Given the description of an element on the screen output the (x, y) to click on. 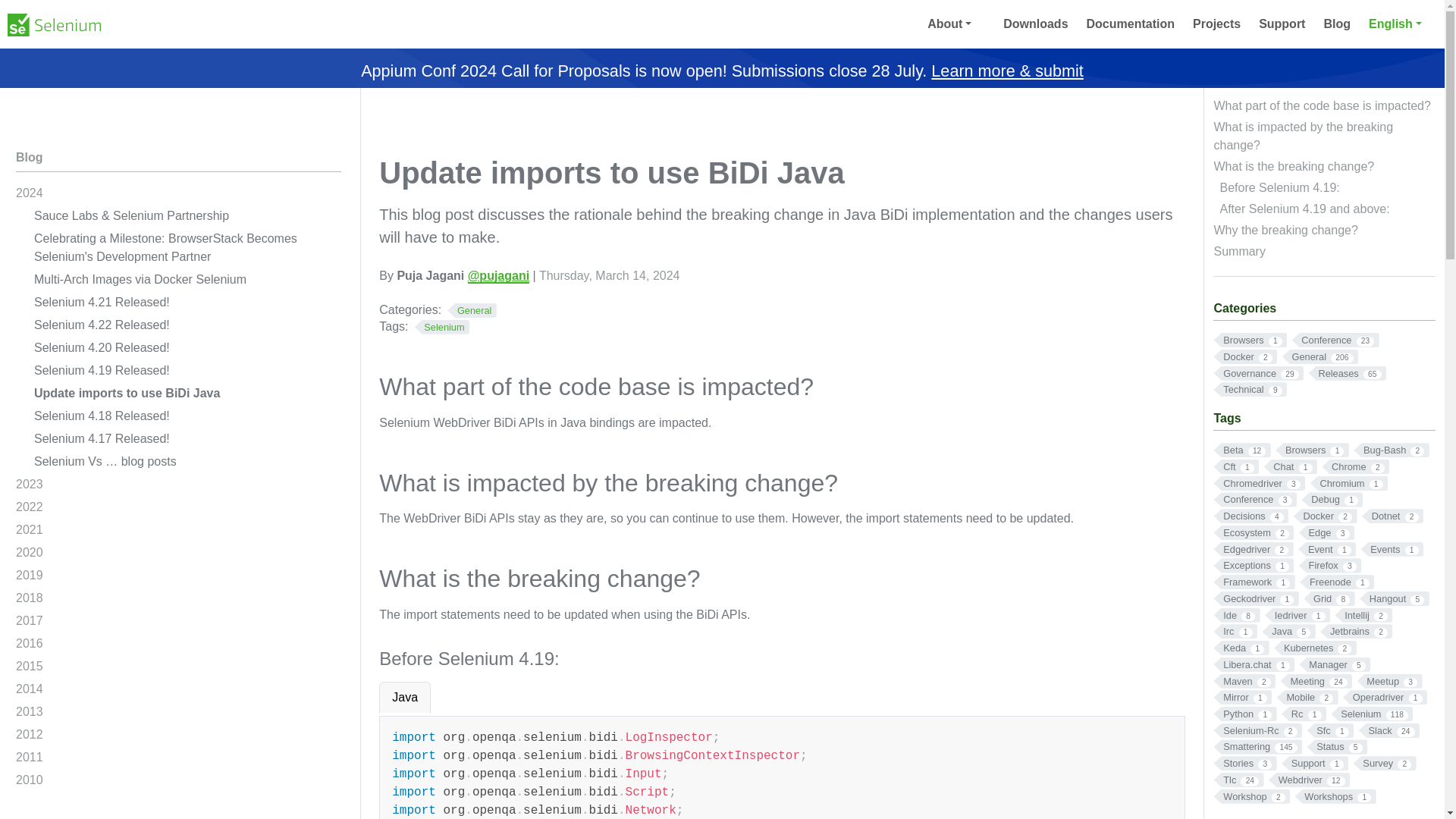
Blog Posts - 2011 (178, 759)
Selenium 4.17 Released! (186, 440)
Blog Posts - 2015 (178, 668)
Blog Posts - 2016 (178, 645)
Support (1281, 24)
About (956, 24)
Blog Posts - 2022 (178, 508)
Projects (1216, 24)
Sauce Labs: A New Milestone with Selenium (186, 218)
English (1400, 24)
Selenium 4.22 Released! (186, 327)
Multi-Arch Images via Docker Selenium (186, 282)
Blog Posts - 2014 (178, 691)
Blog Posts - 2018 (178, 599)
